Given the description of an element on the screen output the (x, y) to click on. 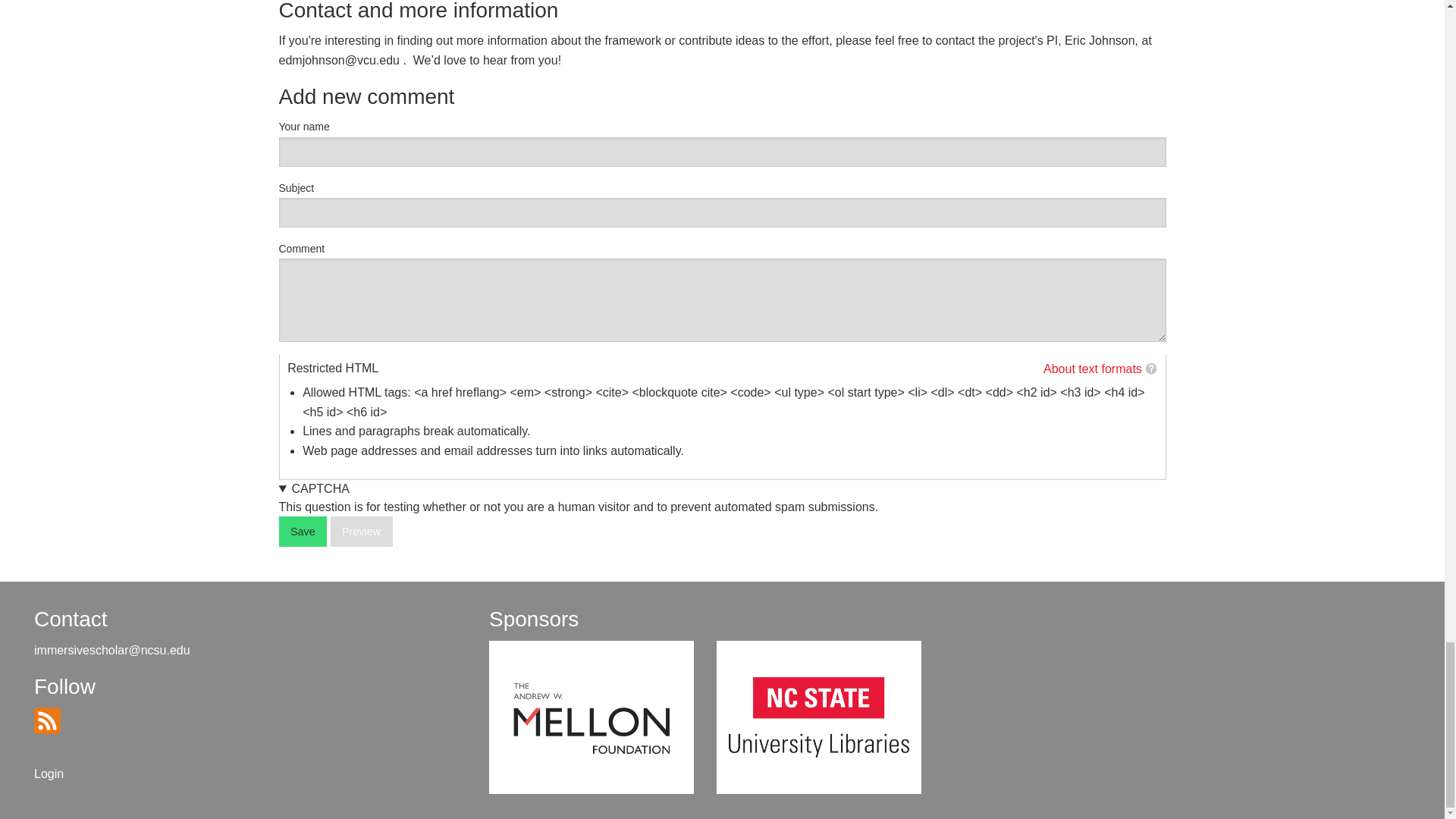
Login (48, 773)
Preview (361, 531)
Preview (361, 531)
Save (303, 531)
Save (303, 531)
About text formats (1092, 368)
